Given the description of an element on the screen output the (x, y) to click on. 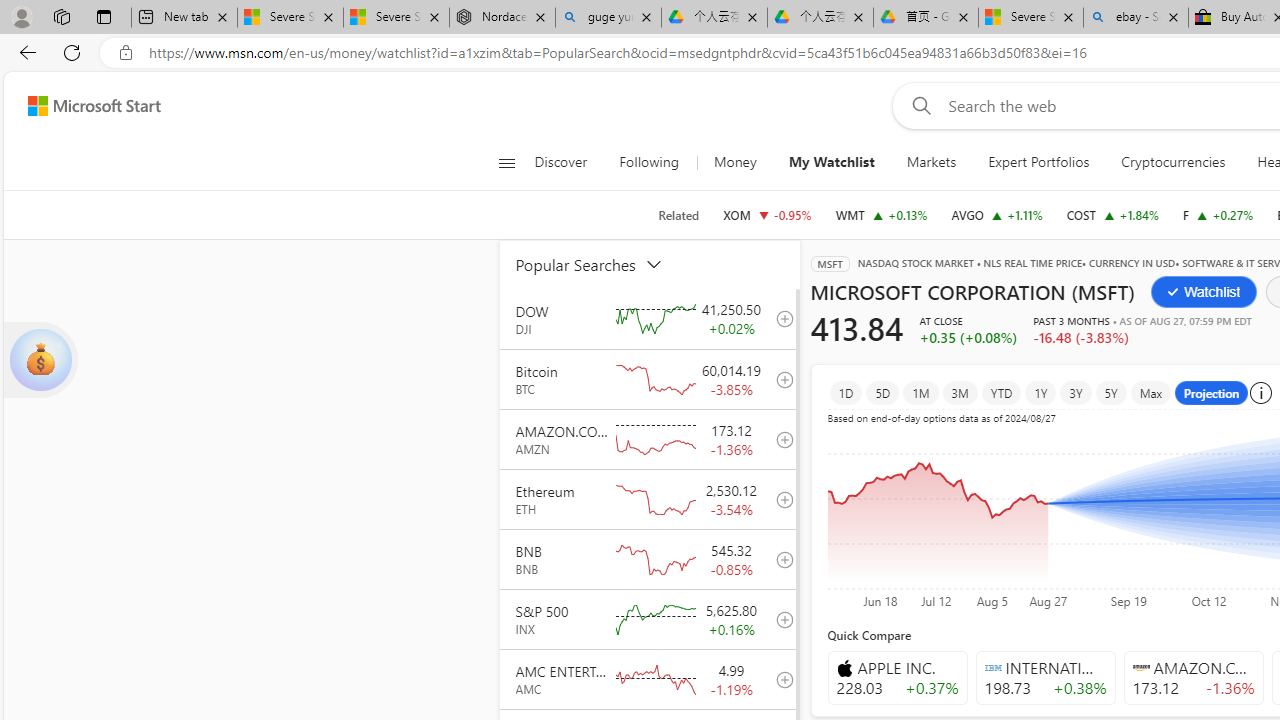
add to your watchlist (779, 678)
Nordace - Summer Adventures 2024 (502, 17)
Discover (568, 162)
Web search (917, 105)
Following (649, 162)
ebay - Search (1135, 17)
1D (845, 392)
My Watchlist (831, 162)
Microsoft Start (94, 105)
Close tab (1172, 16)
Expert Portfolios (1039, 162)
Max (1151, 392)
